Given the description of an element on the screen output the (x, y) to click on. 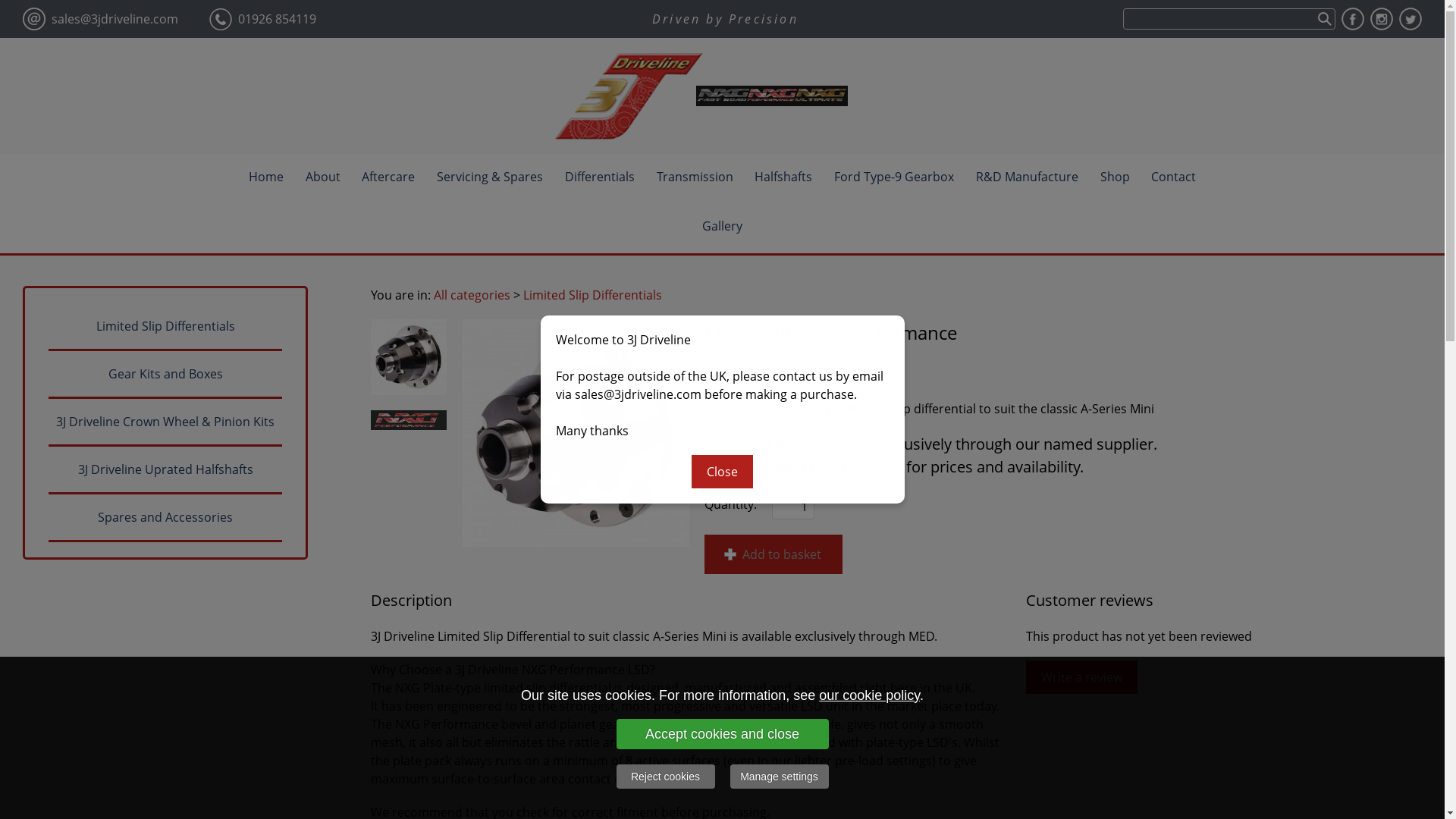
Close Element type: text (722, 471)
Spares and Accessories Element type: text (165, 518)
Ford Type-9 Gearbox Element type: text (893, 178)
Aftercare Element type: text (388, 178)
3J Driveline Crown Wheel & Pinion Kits Element type: text (165, 422)
Shop Element type: text (1114, 178)
Write a review Element type: text (1081, 676)
Gear Kits and Boxes Element type: text (165, 374)
Limited Slip Differentials Element type: text (592, 294)
Halfshafts Element type: text (783, 178)
Differentials Element type: text (599, 178)
All categories Element type: text (471, 294)
Servicing & Spares Element type: text (489, 178)
Transmission Element type: text (693, 178)
R&D Manufacture Element type: text (1026, 178)
Contact Element type: text (1173, 178)
Manage settings Element type: text (778, 776)
Home Element type: text (265, 178)
our cookie policy Element type: text (869, 694)
sales@3jdriveline.com Element type: text (114, 18)
Limited Slip Differentials Element type: text (165, 327)
3J Driveline Uprated Halfshafts Element type: text (165, 470)
Add to basket Element type: text (773, 554)
Gallery Element type: text (721, 228)
About Element type: text (322, 178)
